Given the description of an element on the screen output the (x, y) to click on. 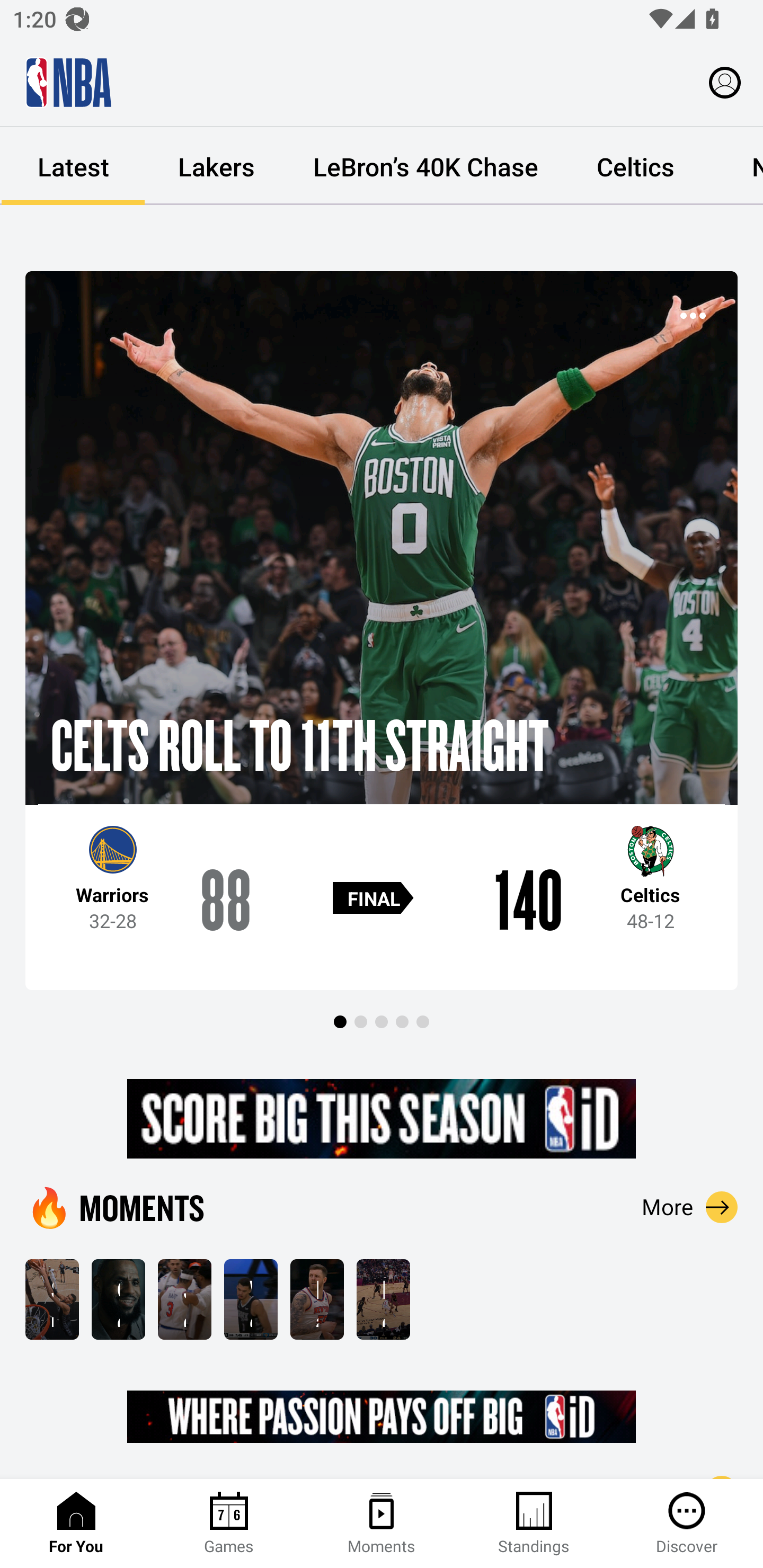
Profile (724, 81)
Lakers (215, 166)
LeBron’s 40K Chase (425, 166)
Celtics (634, 166)
More (689, 1207)
Sunday's Top Plays In 30 Seconds ⏱ (51, 1299)
Hartenstein Drops The Hammer 🔨 (317, 1299)
Games (228, 1523)
Moments (381, 1523)
Standings (533, 1523)
Discover (686, 1523)
